Given the description of an element on the screen output the (x, y) to click on. 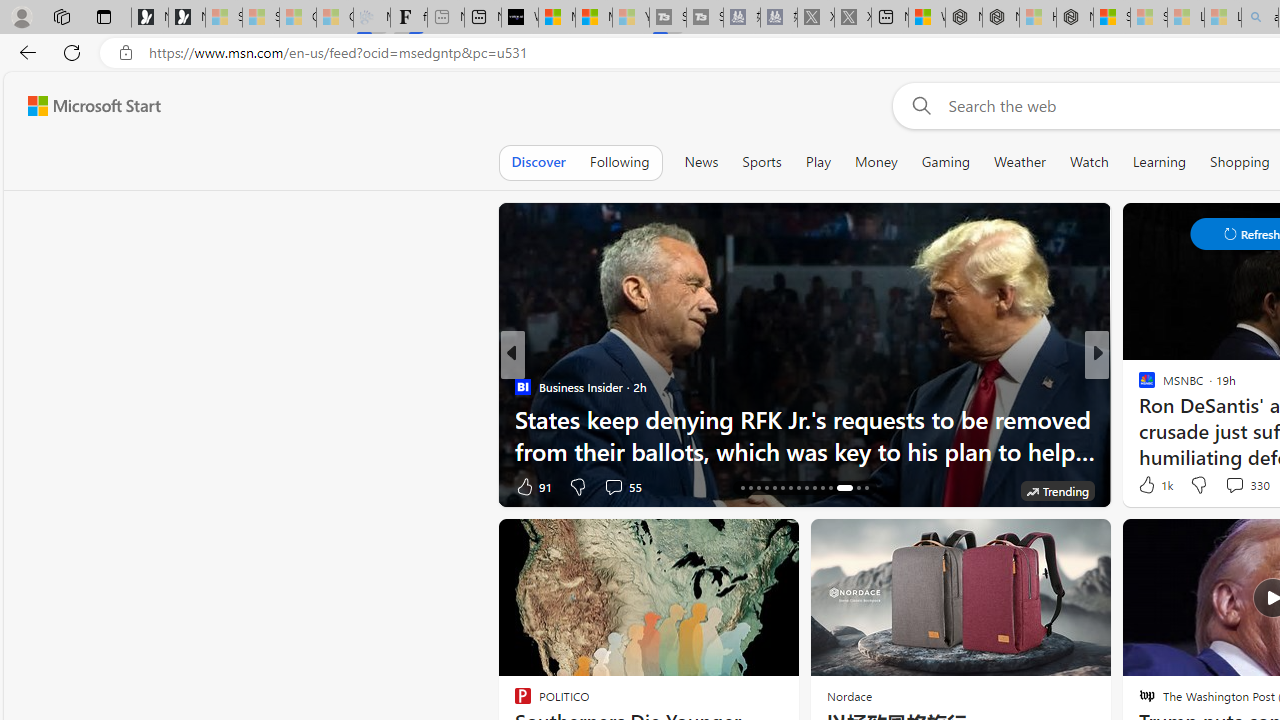
Learning (1159, 162)
AutomationID: tab-23 (797, 487)
181 Like (1151, 486)
Shopping (1240, 161)
AutomationID: tab-26 (821, 487)
Web search (917, 105)
Weather (1019, 162)
You're following FOX News (445, 490)
Learning (1159, 161)
View comments 55 Comment (622, 486)
Gaming (945, 162)
